Given the description of an element on the screen output the (x, y) to click on. 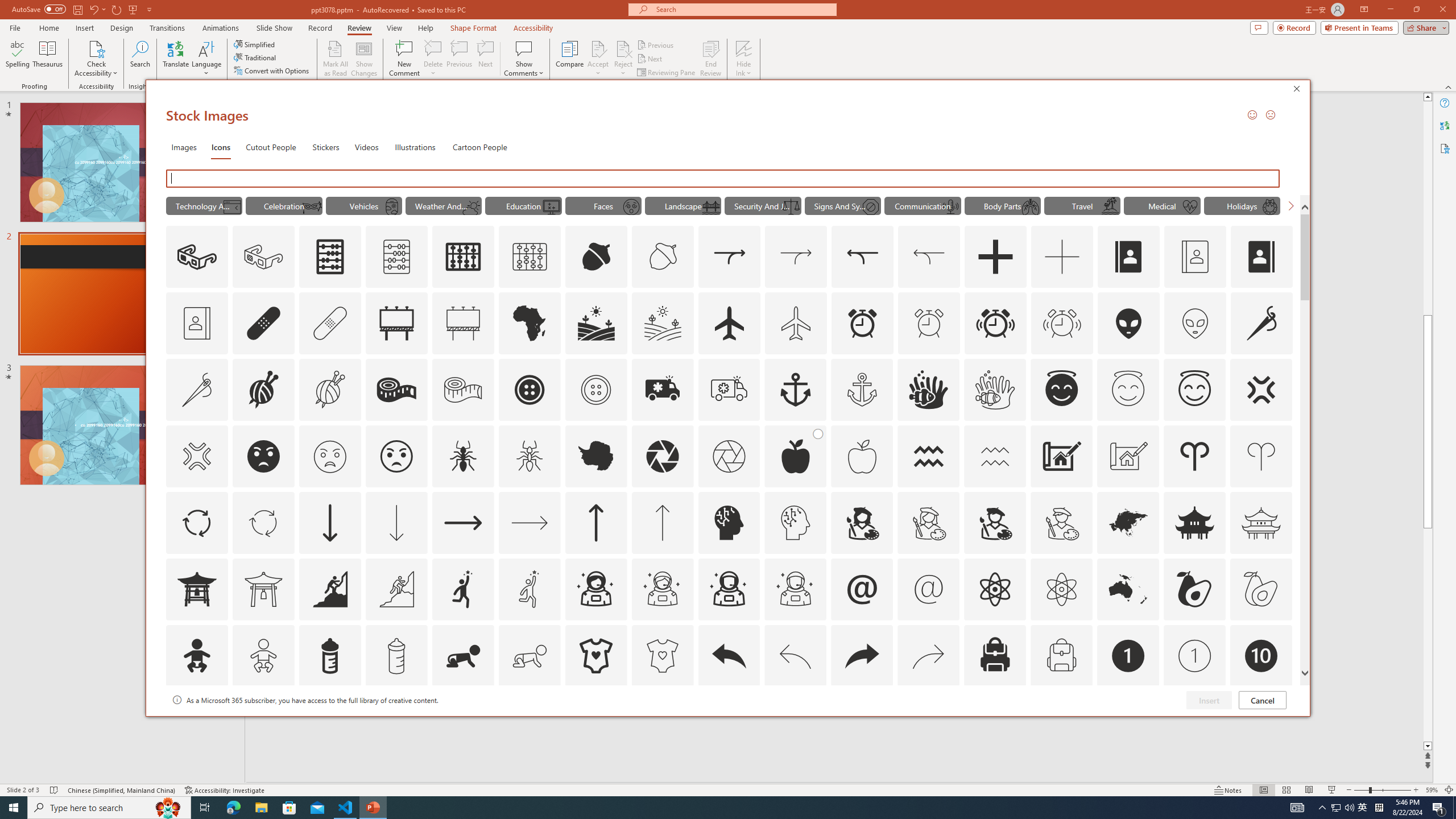
AutomationID: Icons_Badge2_M (329, 721)
Previous (655, 44)
AutomationID: Icons_ArrowCircle (196, 522)
AutomationID: Icons_BabyBottle (329, 655)
AutomationID: Icons_AddressBook_LTR (1128, 256)
AutomationID: Icons_ArtistFemale_M (928, 522)
AutomationID: Icons_ArrowUp (595, 522)
